Given the description of an element on the screen output the (x, y) to click on. 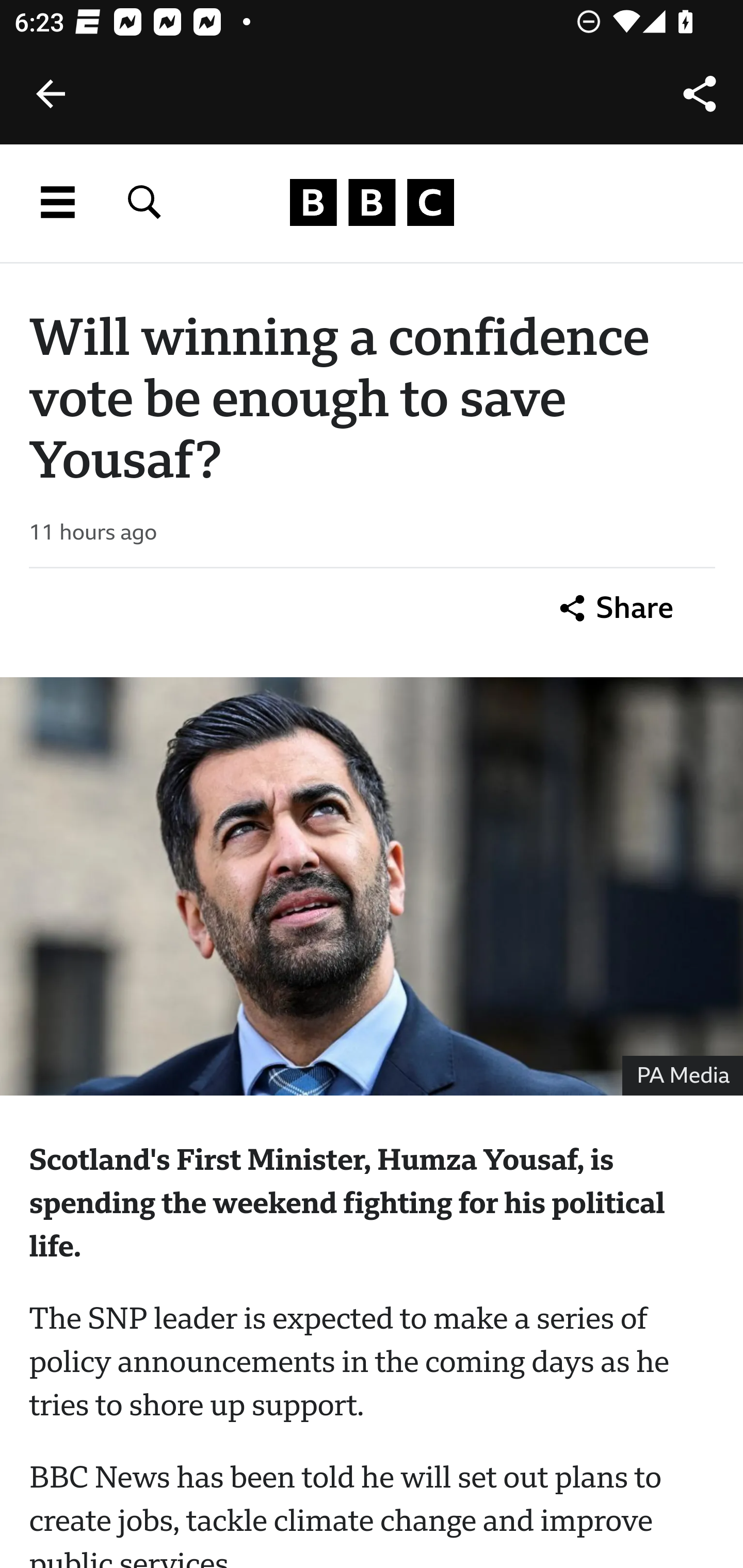
Back (50, 93)
Share (699, 93)
www.bbc (371, 203)
Share (617, 608)
